Given the description of an element on the screen output the (x, y) to click on. 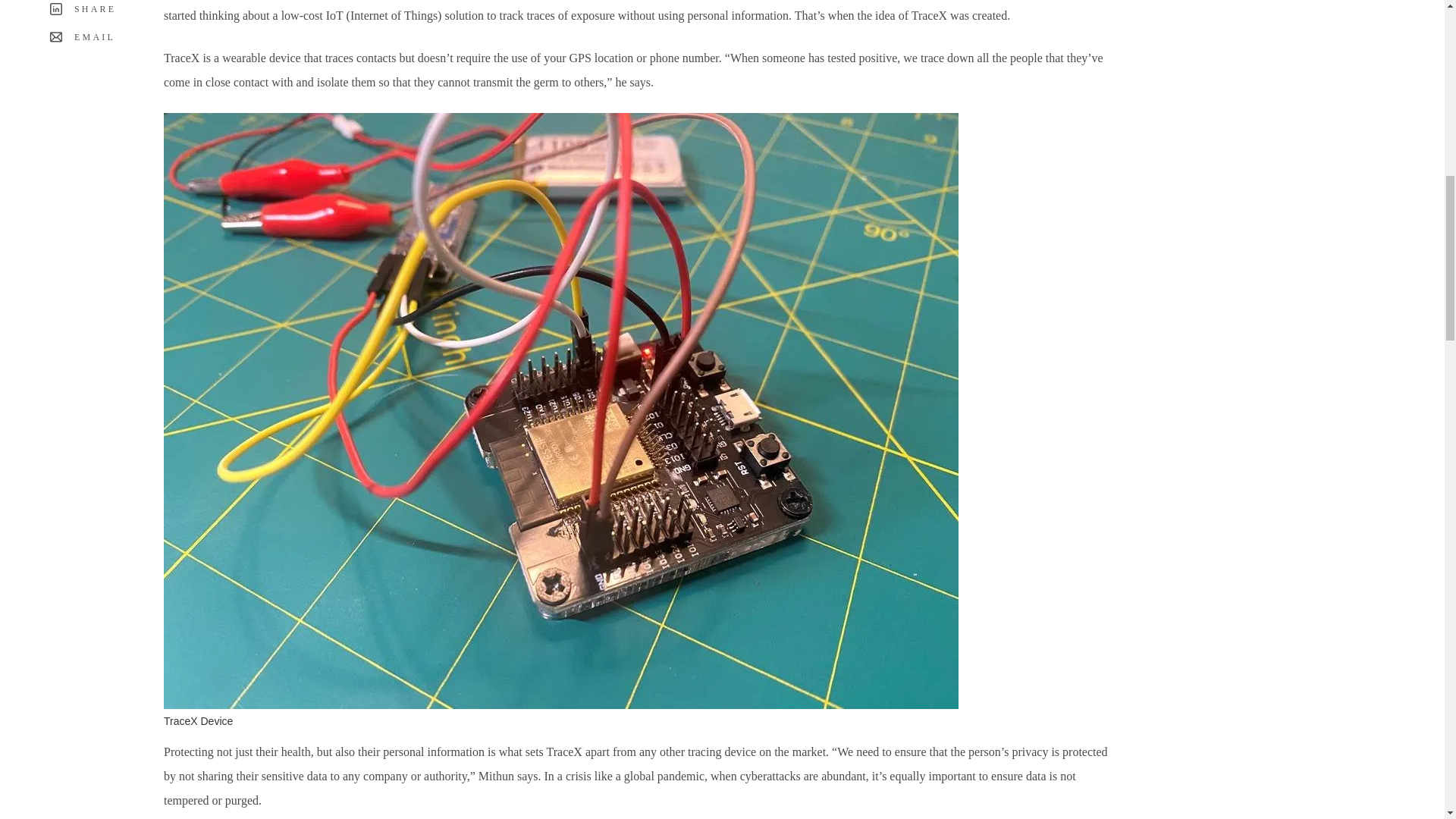
Share on LinkedIn (81, 9)
